Given the description of an element on the screen output the (x, y) to click on. 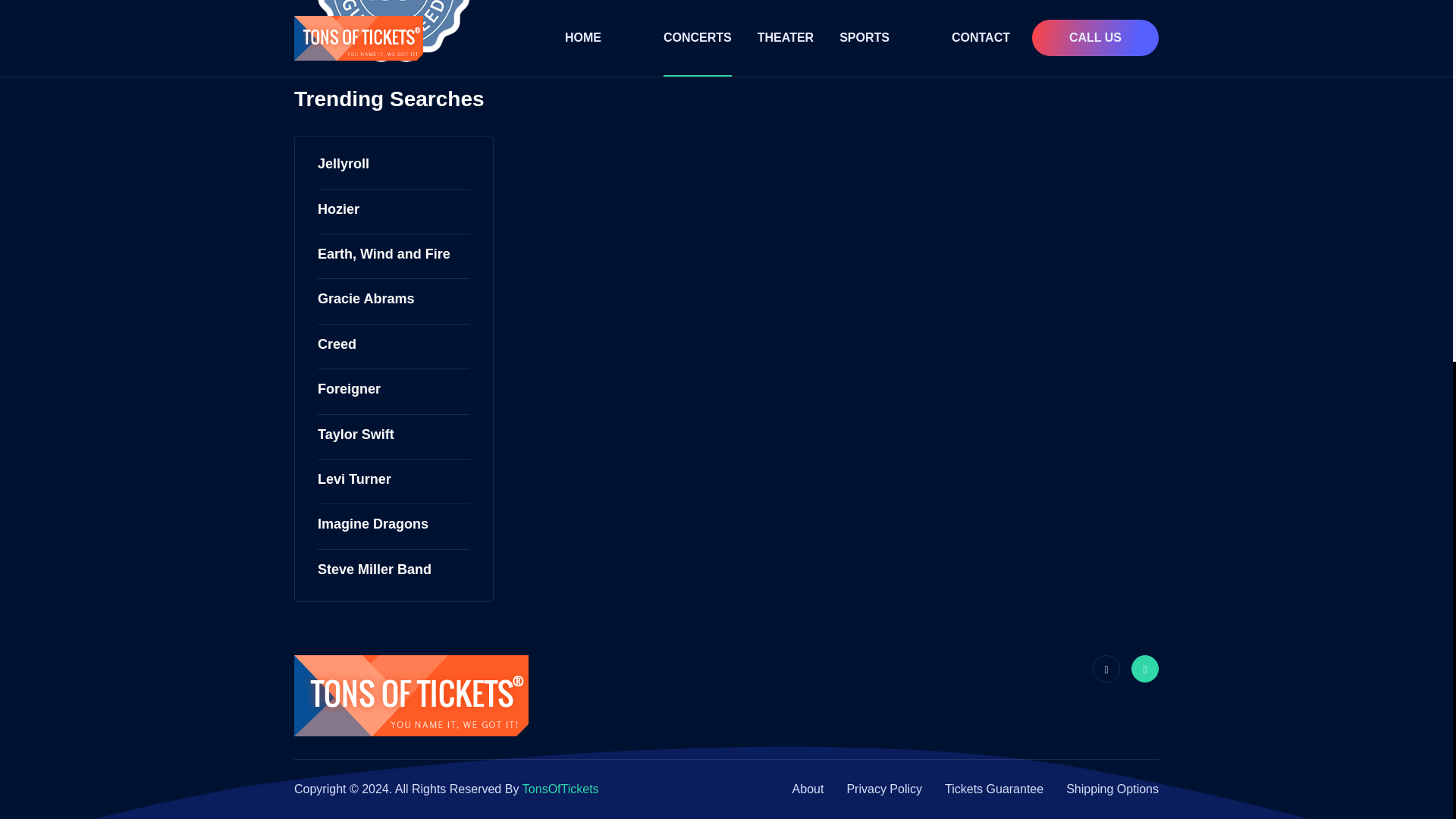
Jellyroll (343, 163)
Shipping Options (1111, 789)
Creed (336, 343)
Foreigner (348, 389)
Levi Turner (354, 479)
Imagine Dragons (372, 524)
Earth, Wind and Fire (383, 253)
TonsOfTickets (560, 789)
Taylor Swift (355, 434)
Hozier (338, 209)
Tickets Guarantee (993, 789)
About (808, 789)
Steve Miller Band (373, 569)
Gracie Abrams (365, 298)
Privacy Policy (883, 789)
